Given the description of an element on the screen output the (x, y) to click on. 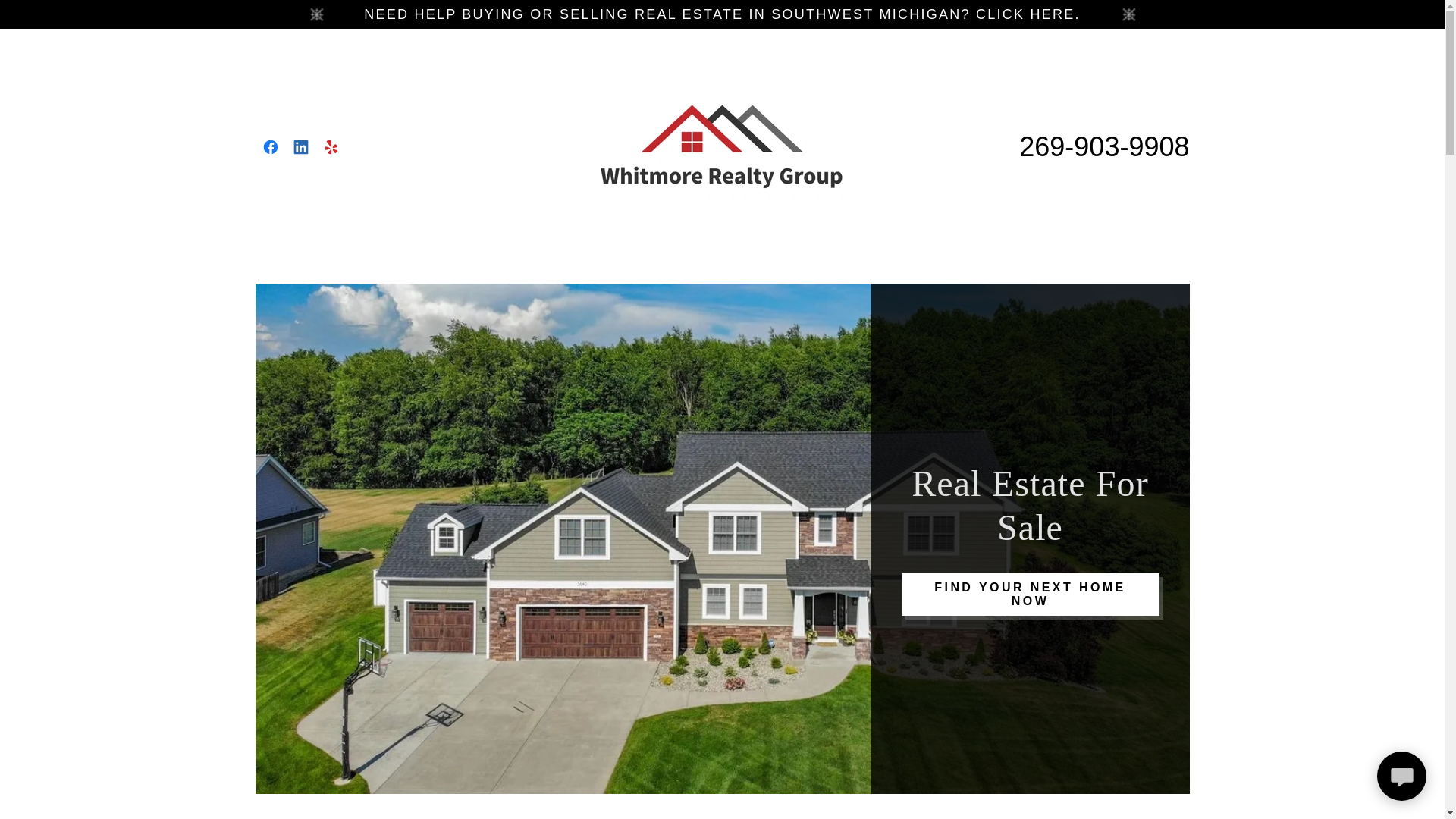
269-903-9908 (1104, 146)
Kalamazoo County Welcome Home (721, 145)
FIND YOUR NEXT HOME NOW (1029, 594)
